Given the description of an element on the screen output the (x, y) to click on. 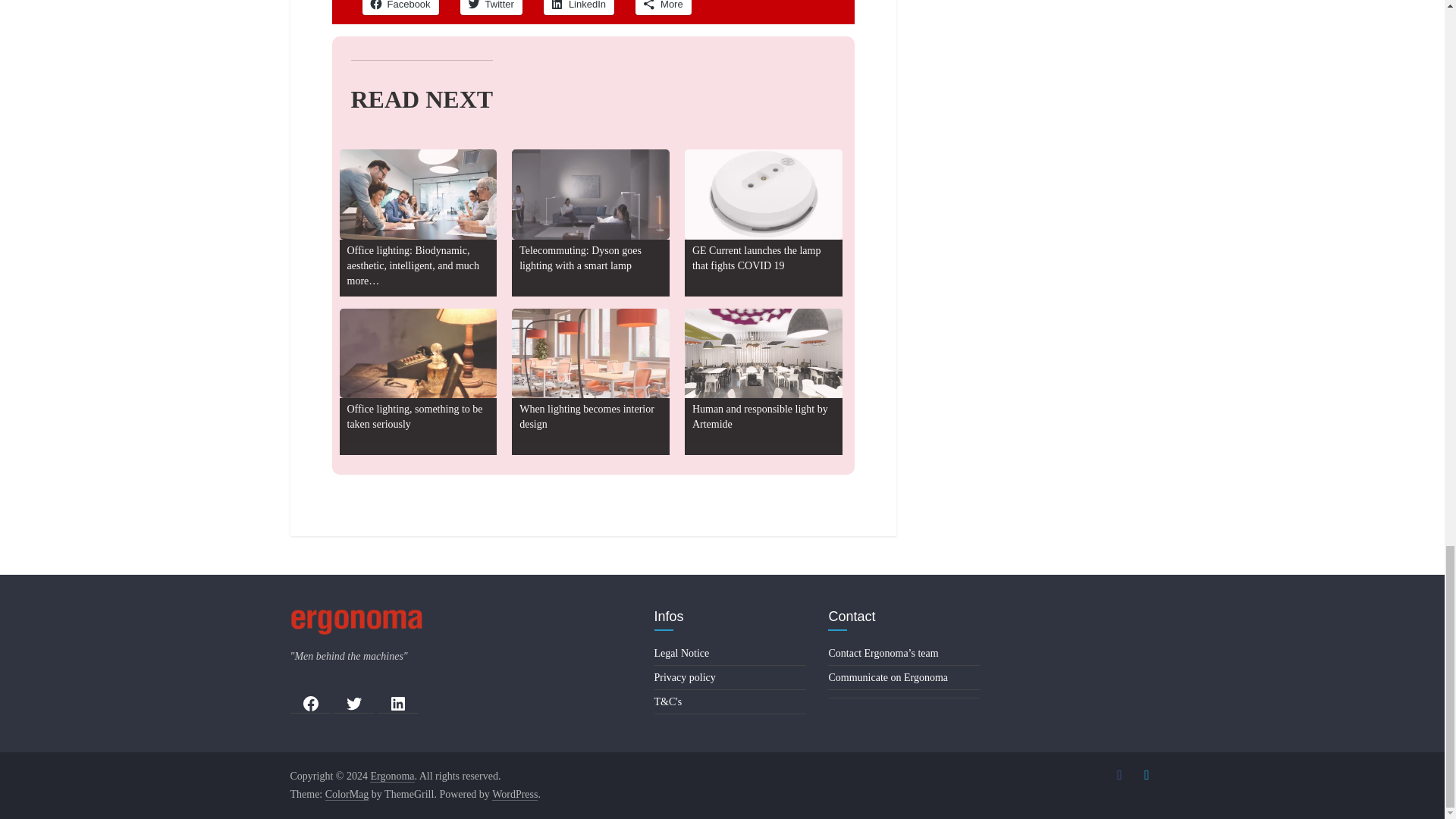
When lighting becomes interior design (590, 353)
Telecommuting: Dyson goes lighting with a smart lamp (590, 194)
GE Current launches the lamp that fights COVID 19 (757, 257)
Facebook (400, 7)
More (662, 7)
Click to share on LinkedIn (578, 7)
LinkedIn (578, 7)
Click to share on Twitter (491, 7)
Office lighting, something to be taken seriously (415, 416)
Click to share on Facebook (400, 7)
Office lighting, something to be taken seriously (415, 416)
When lighting becomes interior design (586, 416)
Telecommuting: Dyson goes lighting with a smart lamp (580, 257)
Telecommuting: Dyson goes lighting with a smart lamp (580, 257)
Twitter (491, 7)
